Given the description of an element on the screen output the (x, y) to click on. 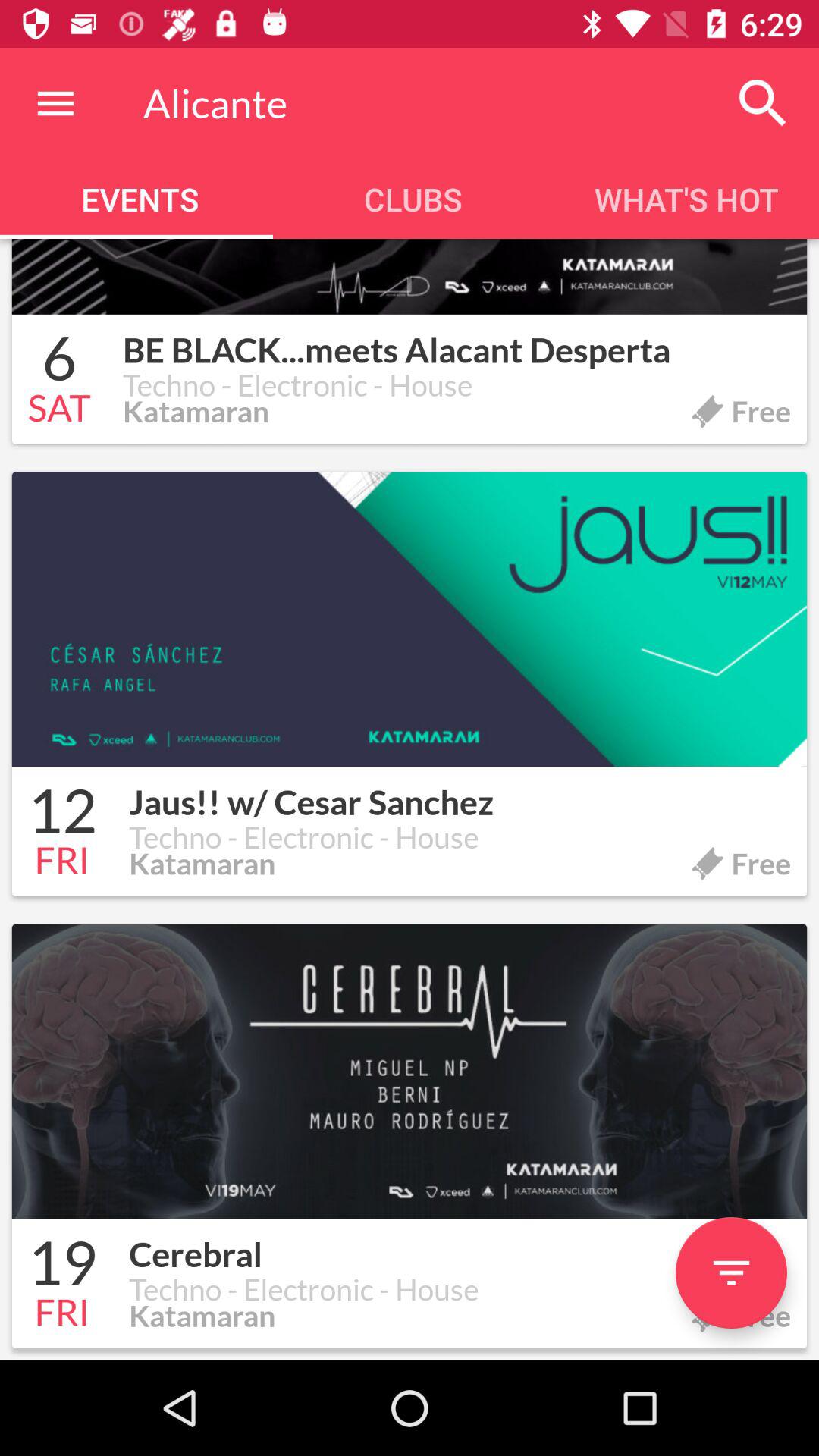
select jaus w cesar (460, 793)
